Given the description of an element on the screen output the (x, y) to click on. 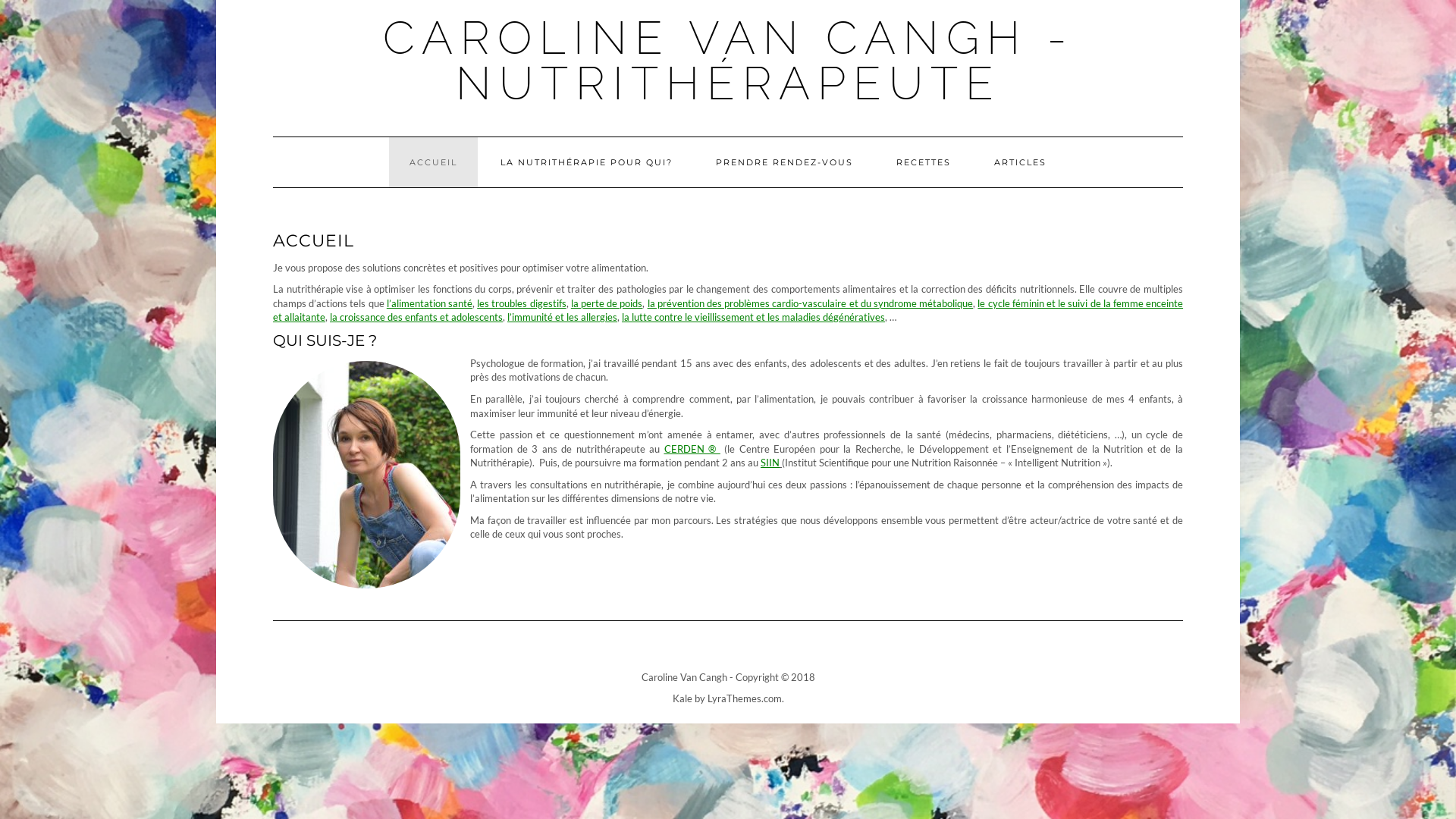
ARTICLES Element type: text (1019, 162)
Kale Element type: text (681, 698)
les troubles digestifs Element type: text (520, 303)
SIIN Element type: text (769, 462)
la croissance des enfants et adolescents Element type: text (415, 316)
ACCUEIL Element type: text (433, 162)
la perte de poids Element type: text (607, 303)
PRENDRE RENDEZ-VOUS Element type: text (784, 162)
RECETTES Element type: text (923, 162)
